Given the description of an element on the screen output the (x, y) to click on. 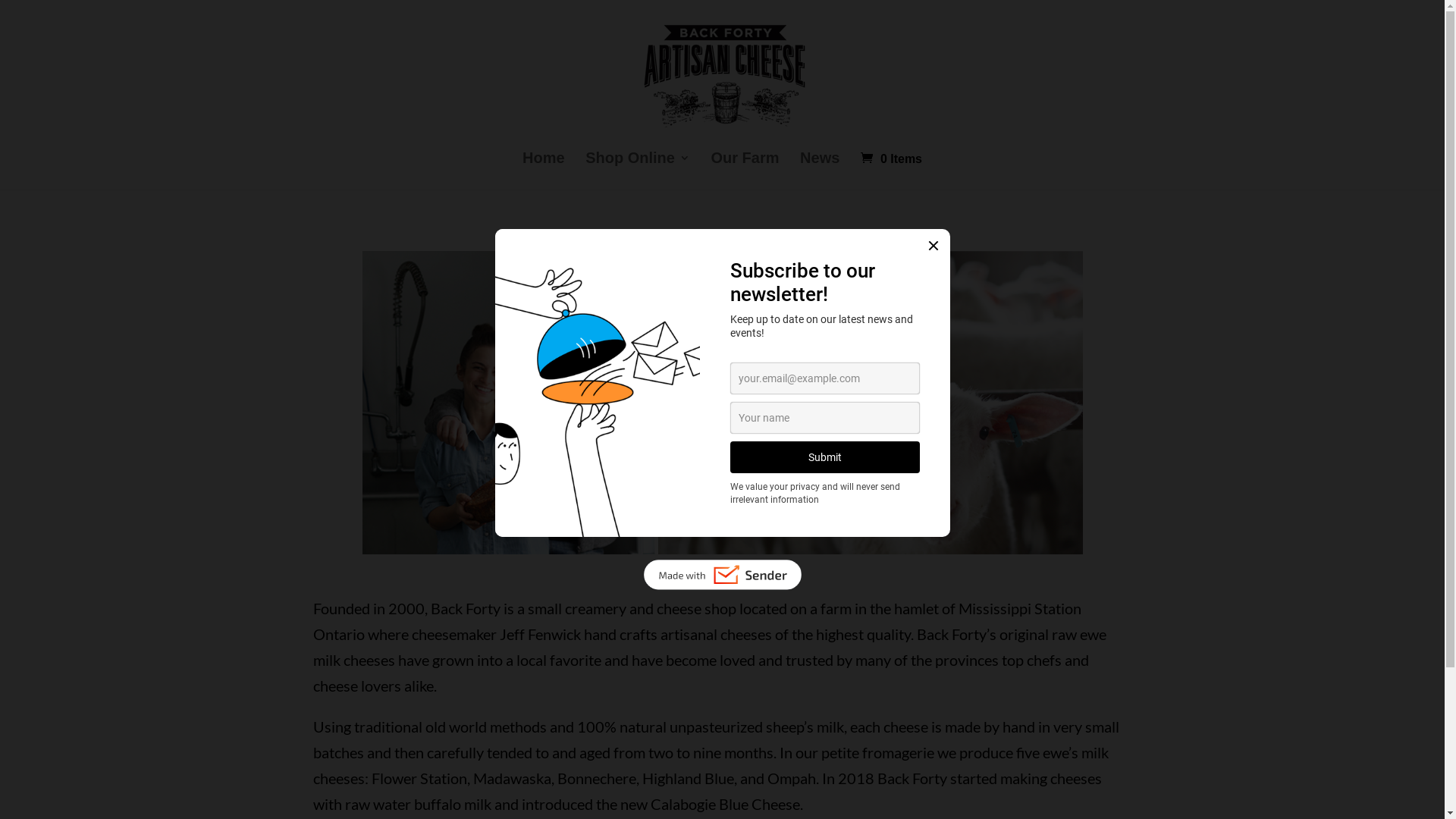
News Element type: text (819, 170)
Home Element type: text (543, 170)
Our Farm Element type: text (744, 170)
0 Items Element type: text (891, 158)
Shop Online Element type: text (637, 170)
